Given the description of an element on the screen output the (x, y) to click on. 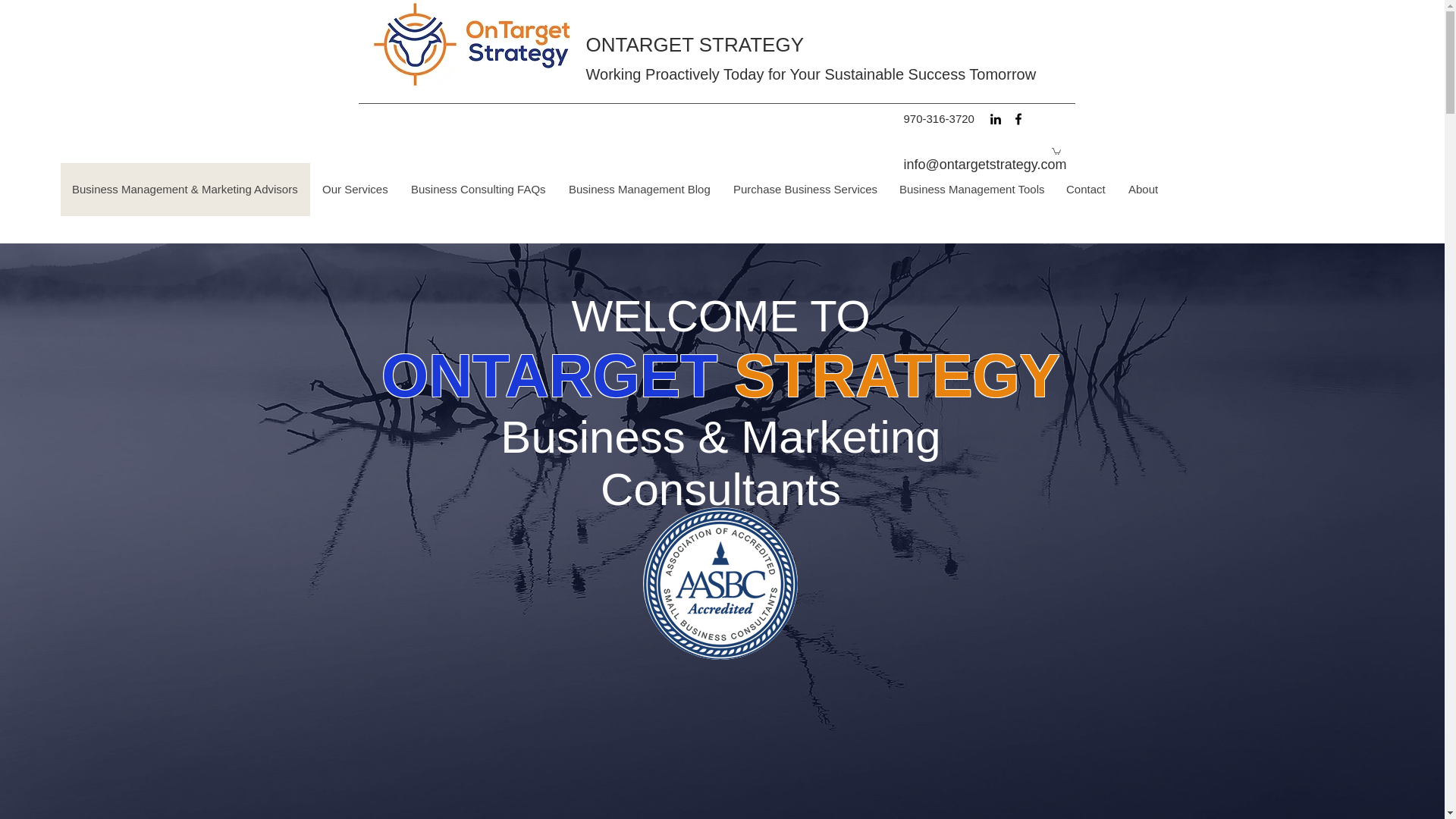
Business Management Tools (970, 189)
Business Management Blog (638, 189)
Purchase Business Services (803, 189)
Business Consulting FAQs (477, 189)
ONTARGET STRATEGY (694, 44)
Contact (1085, 189)
About (1142, 189)
